Given the description of an element on the screen output the (x, y) to click on. 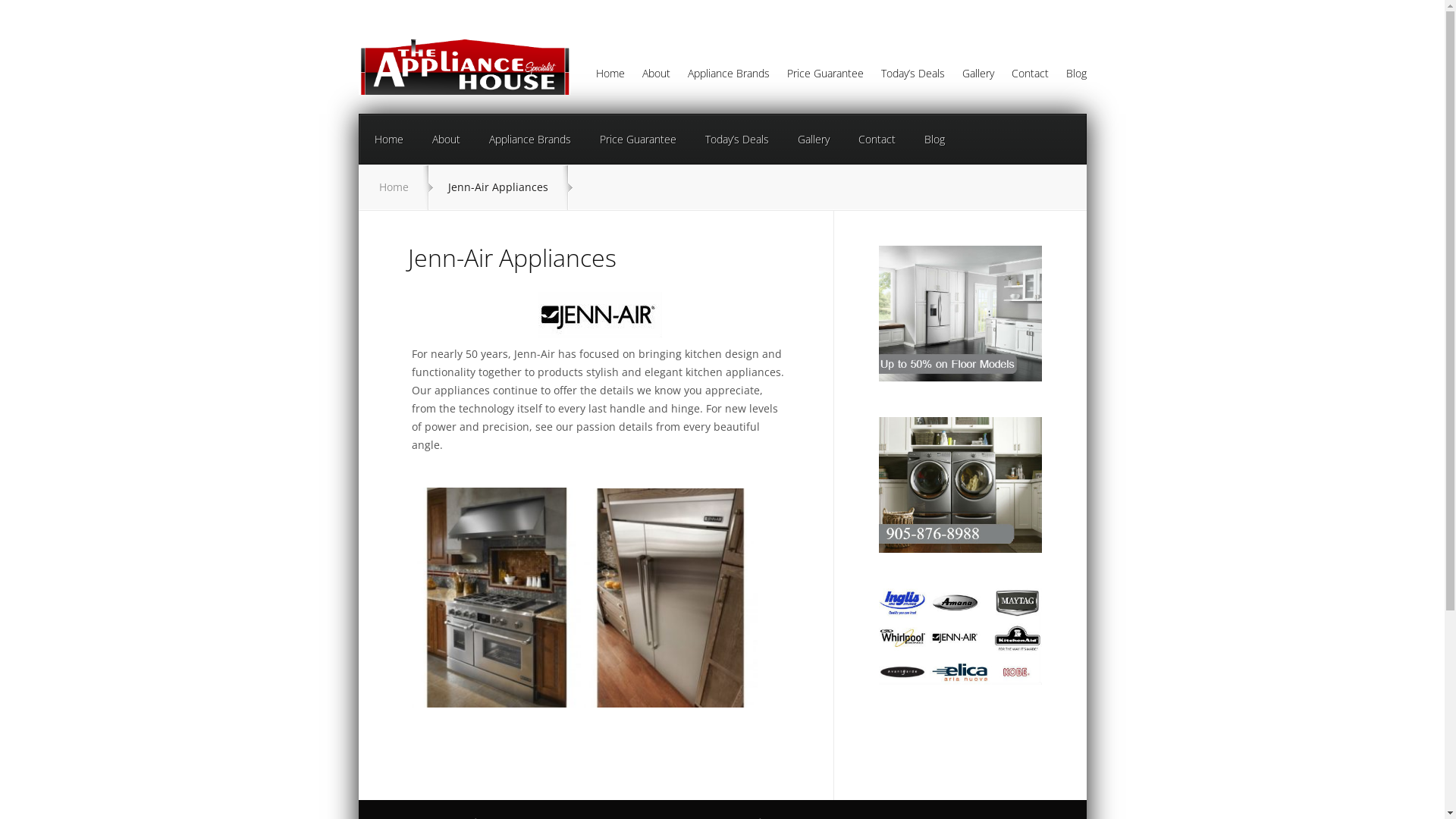
Contact Element type: text (876, 139)
About Element type: text (445, 139)
Blog Element type: text (1068, 77)
About Element type: text (648, 77)
Home Element type: text (388, 139)
Price Guarantee Element type: text (816, 77)
Gallery Element type: text (970, 77)
Home Element type: text (602, 77)
Appliance Brands Element type: text (529, 139)
Contact Element type: text (1022, 77)
Blog Element type: text (934, 139)
Gallery Element type: text (812, 139)
Price Guarantee Element type: text (637, 139)
Home Element type: text (393, 186)
Appliance Brands Element type: text (721, 77)
